Given the description of an element on the screen output the (x, y) to click on. 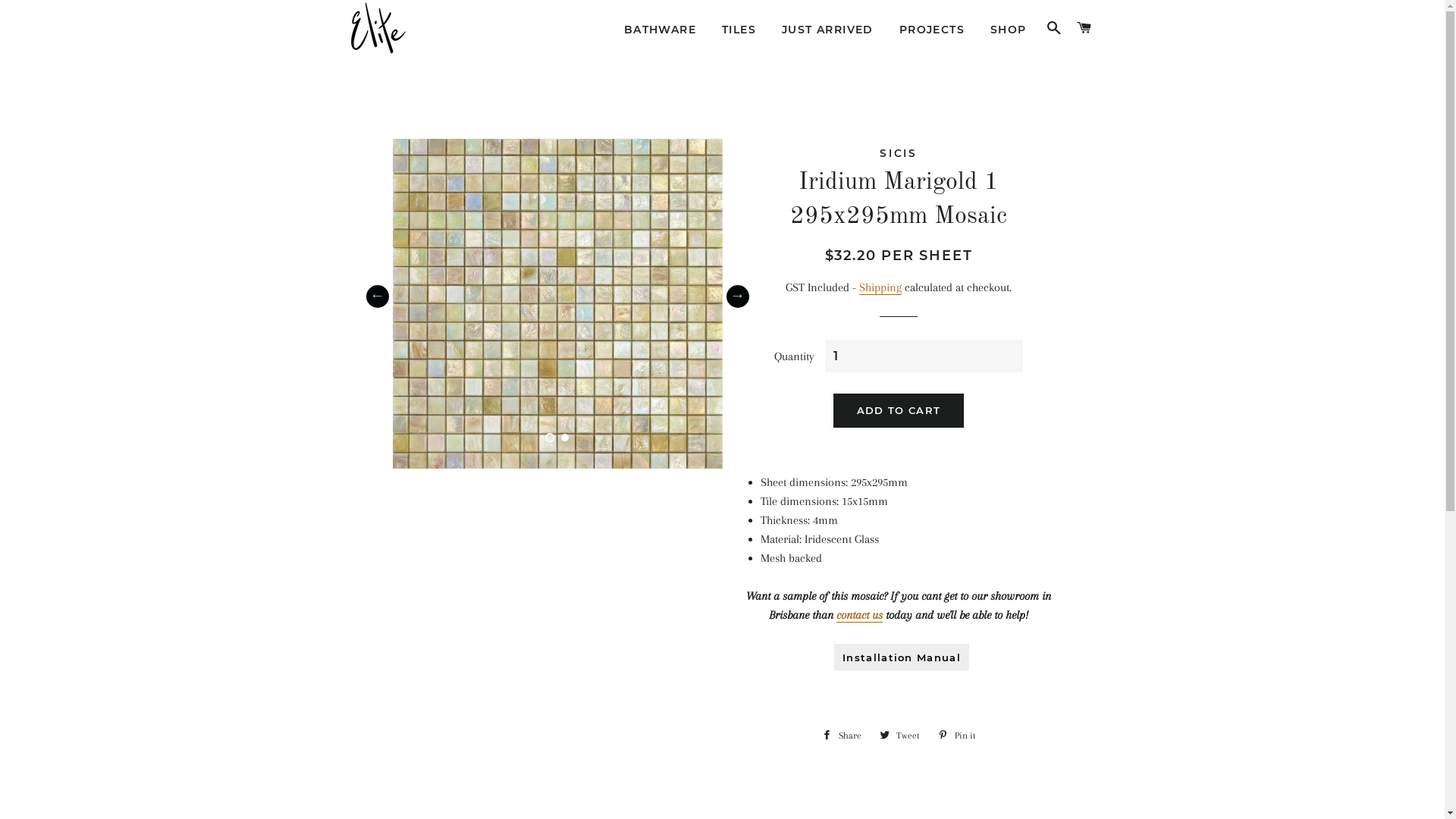
CART Element type: text (1083, 27)
PROJECTS Element type: text (931, 30)
Previous Element type: text (376, 296)
TILES Element type: text (738, 30)
SEARCH Element type: text (1054, 27)
Pin it
Pin on Pinterest Element type: text (955, 735)
Share
Share on Facebook Element type: text (841, 735)
Next Element type: text (737, 296)
Installation Manual Element type: text (901, 657)
BATHWARE Element type: text (659, 30)
SHOP Element type: text (1008, 30)
ADD TO CART Element type: text (898, 409)
Tweet
Tweet on Twitter Element type: text (899, 735)
Shipping Element type: text (880, 287)
1 Element type: text (549, 436)
2 Element type: text (564, 436)
JUST ARRIVED Element type: text (827, 30)
contact us Element type: text (859, 615)
